Given the description of an element on the screen output the (x, y) to click on. 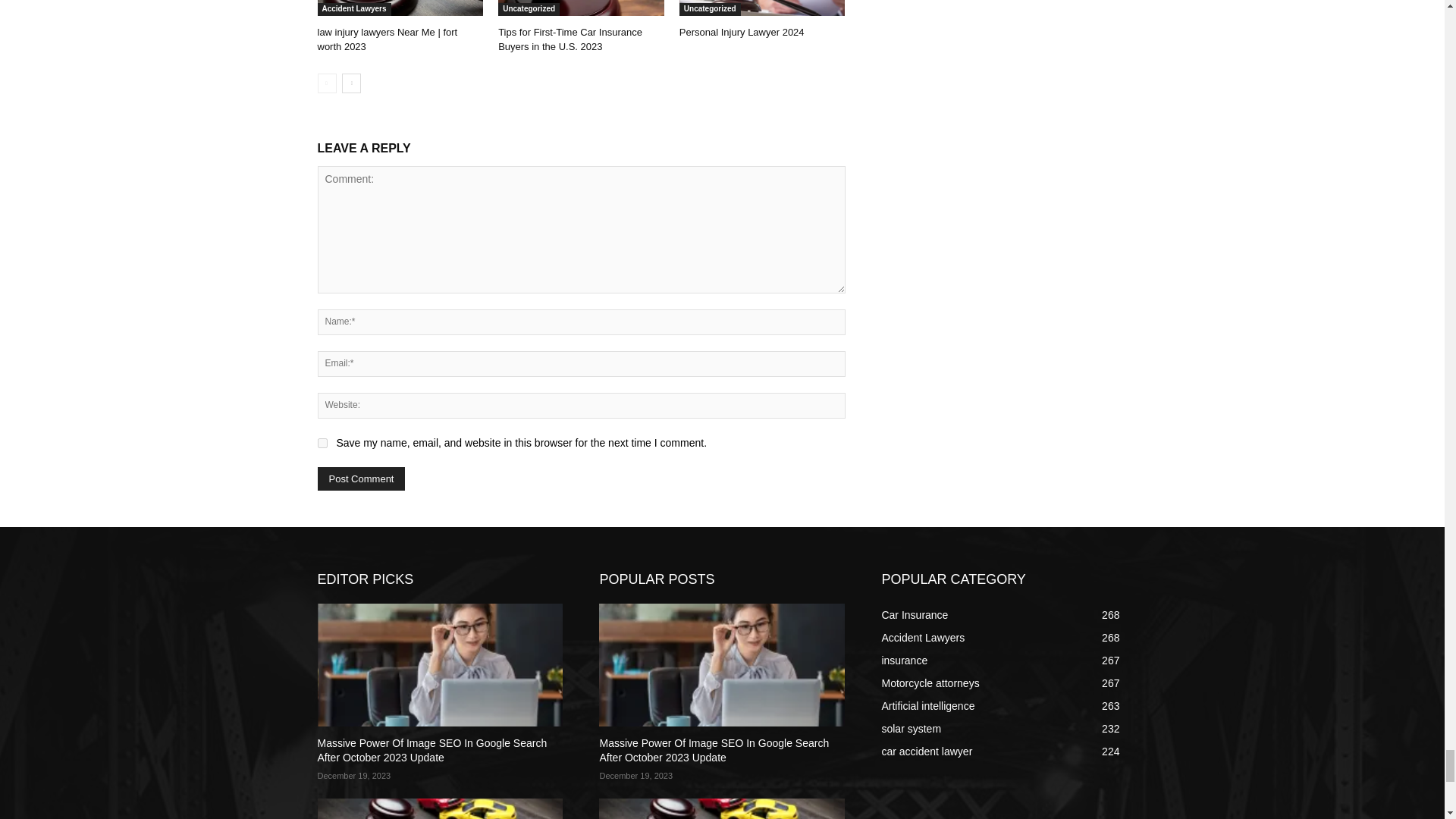
Post Comment (360, 478)
yes (321, 442)
